Given the description of an element on the screen output the (x, y) to click on. 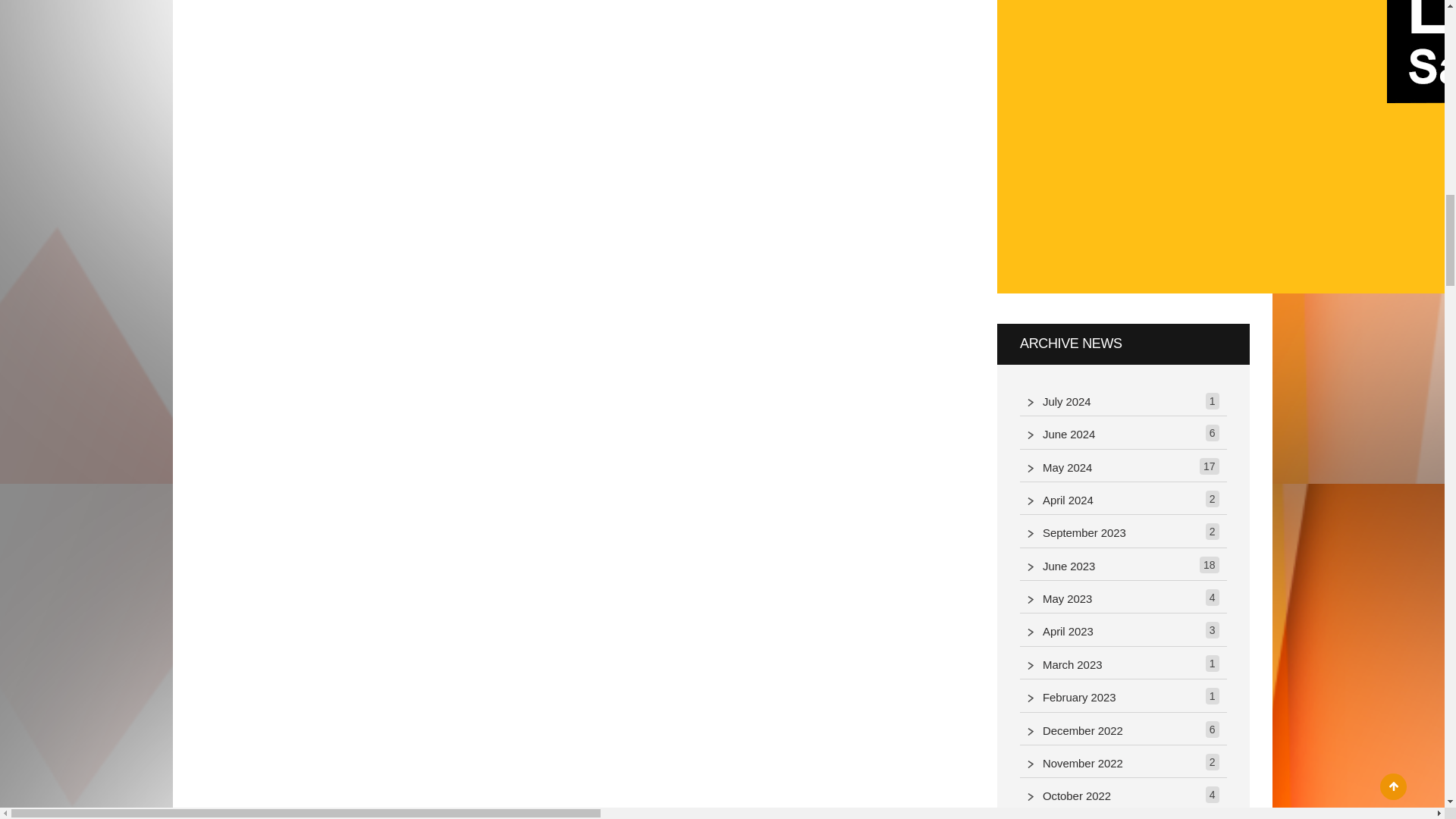
June 2024 (1072, 434)
December 2022 (1086, 731)
July 2024 (1070, 402)
June 2023 (1072, 567)
April 2024 (1072, 500)
May 2023 (1071, 599)
September 2023 (1088, 533)
March 2023 (1076, 665)
April 2023 (1072, 631)
November 2022 (1086, 763)
